Given the description of an element on the screen output the (x, y) to click on. 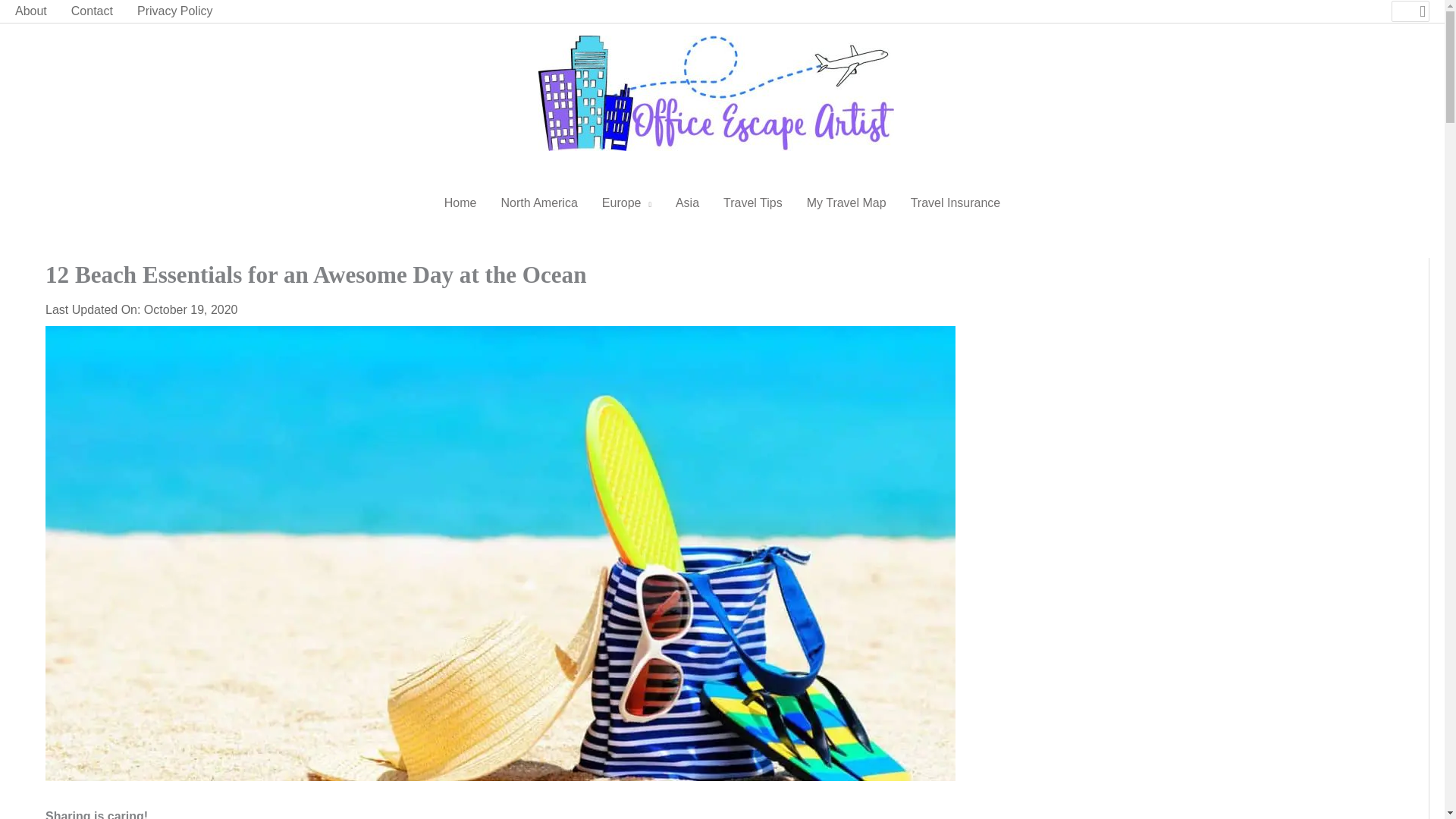
My Travel Map (846, 203)
Contact (92, 11)
Travel Tips (752, 203)
Privacy Policy (175, 11)
Asia (687, 203)
North America (538, 203)
About (36, 11)
Home (460, 203)
Travel Insurance (955, 203)
Europe (626, 203)
